Given the description of an element on the screen output the (x, y) to click on. 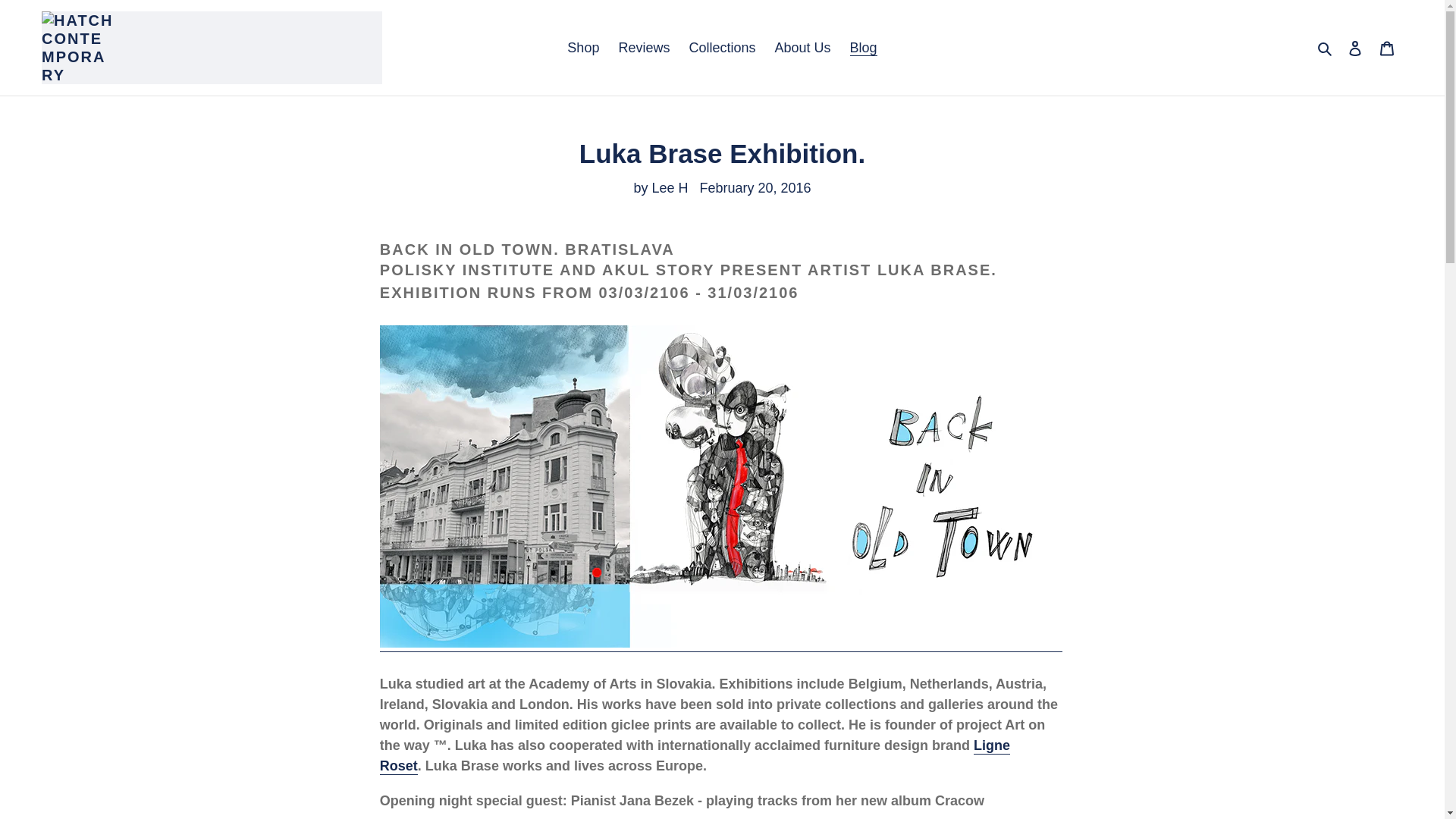
Reviews (643, 47)
Akul story (721, 643)
Shop (583, 47)
About Us (802, 47)
Search (1326, 47)
Ligne Roset (695, 755)
Cart (1387, 48)
Collections (721, 47)
Ligne Roset (695, 755)
Log in (1355, 48)
